Given the description of an element on the screen output the (x, y) to click on. 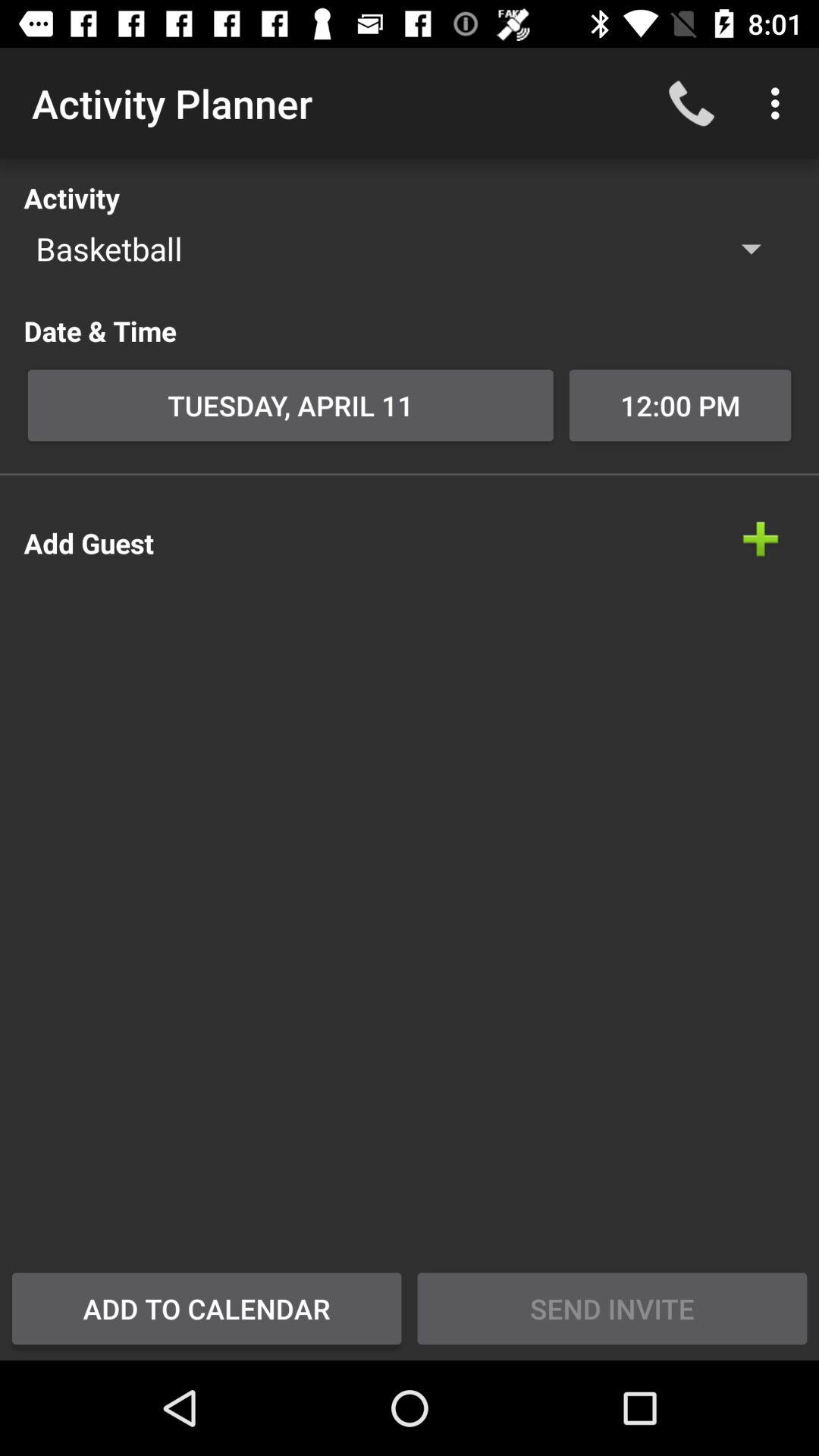
turn on icon at the bottom left corner (206, 1308)
